Given the description of an element on the screen output the (x, y) to click on. 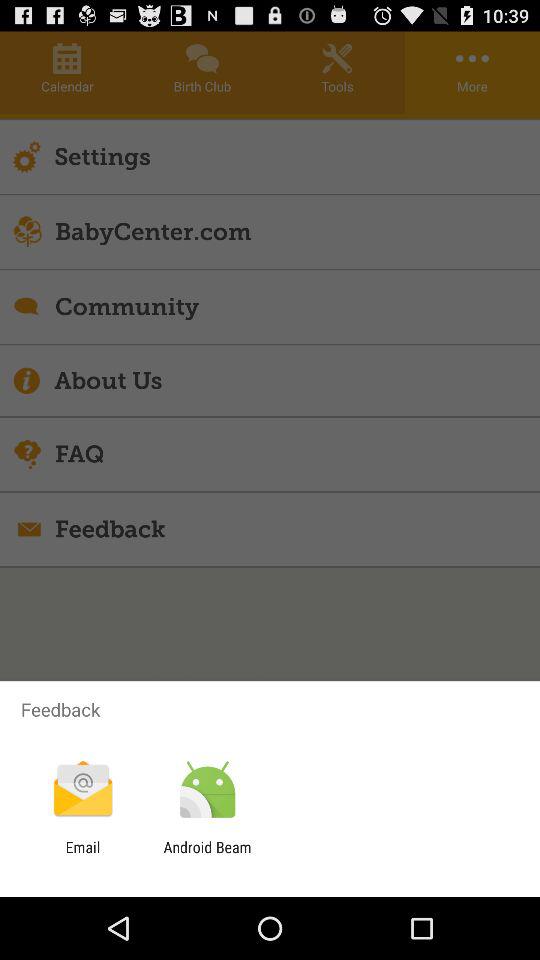
flip until the email app (82, 856)
